Given the description of an element on the screen output the (x, y) to click on. 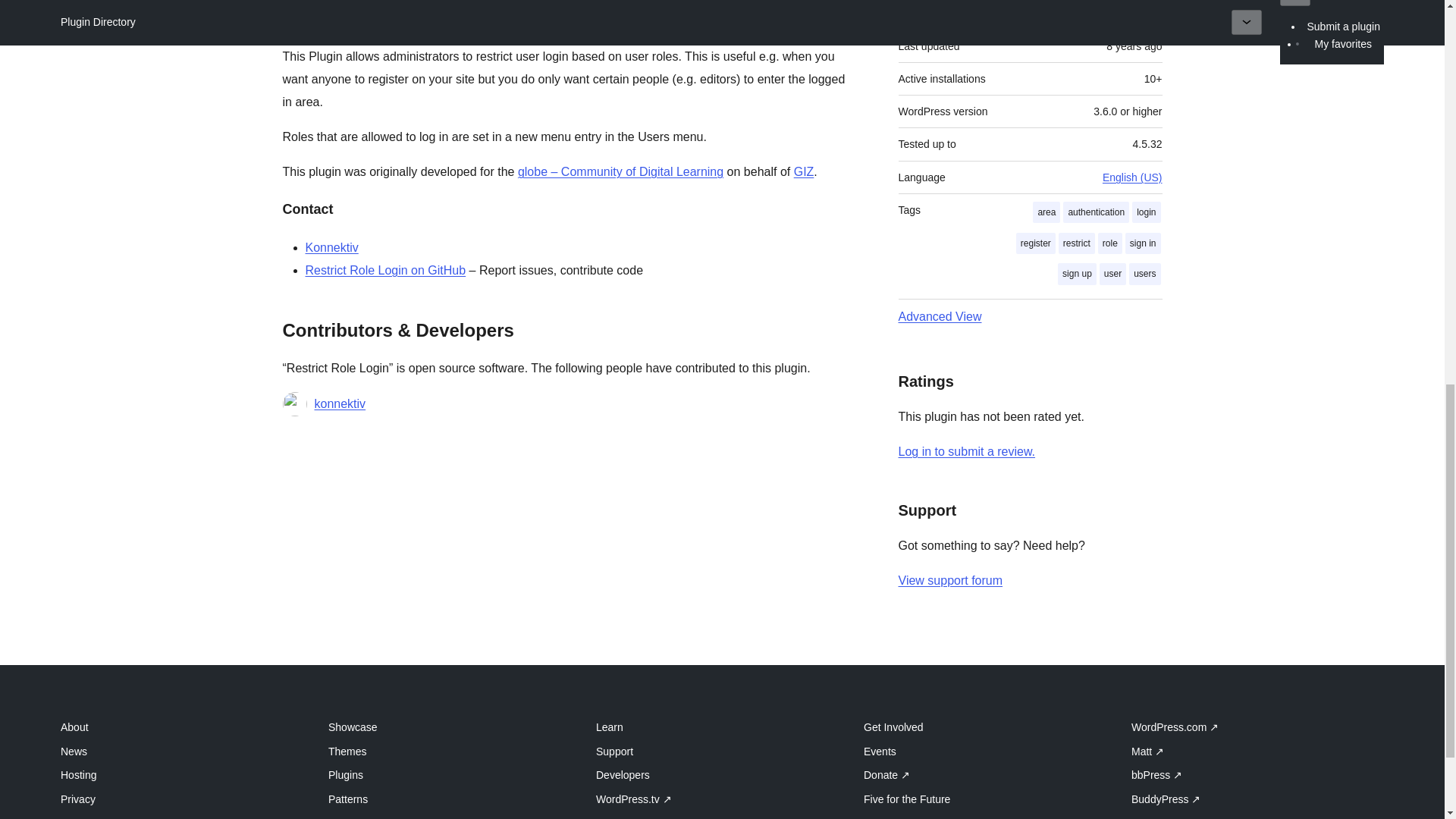
konnektiv (339, 404)
Restrict Role Login on GitHub (384, 269)
GIZ (803, 171)
Konnektiv (331, 246)
Log in to WordPress.org (966, 451)
